Given the description of an element on the screen output the (x, y) to click on. 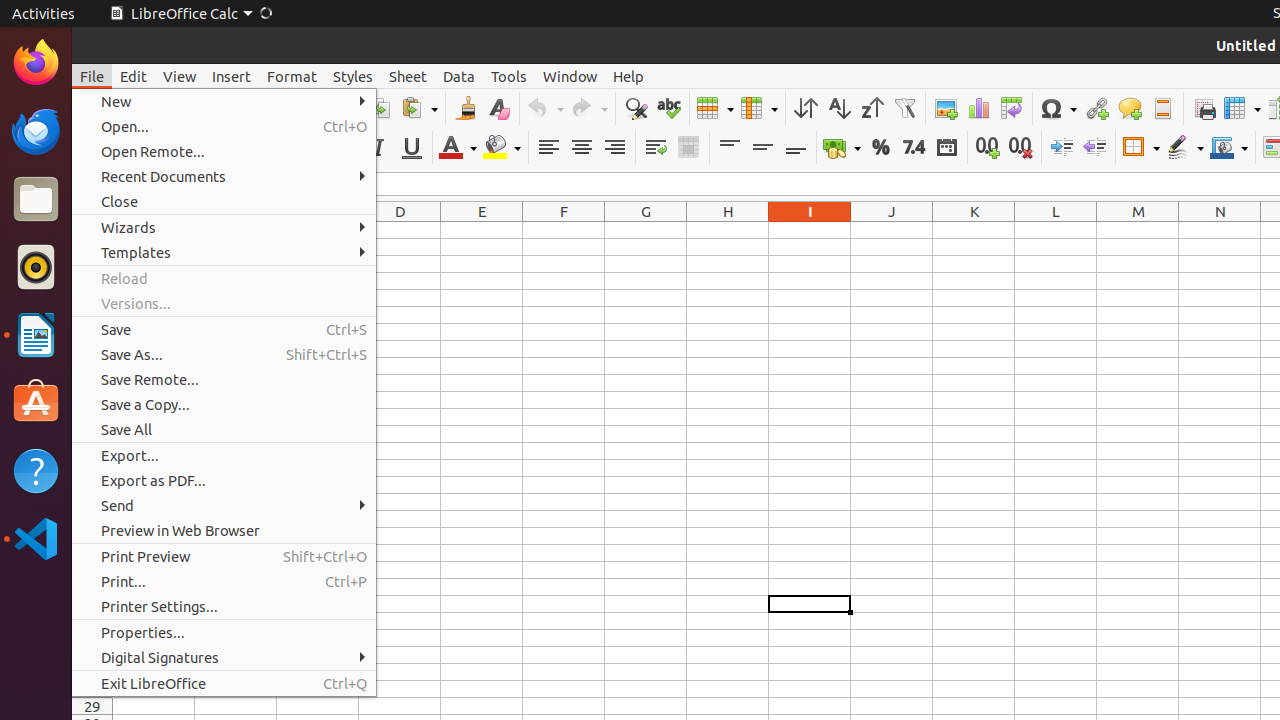
Merge and Center Cells Element type: push-button (688, 147)
Export... Element type: menu-item (224, 455)
Templates Element type: menu (224, 252)
Align Left Element type: push-button (548, 147)
Image Element type: push-button (945, 108)
